Given the description of an element on the screen output the (x, y) to click on. 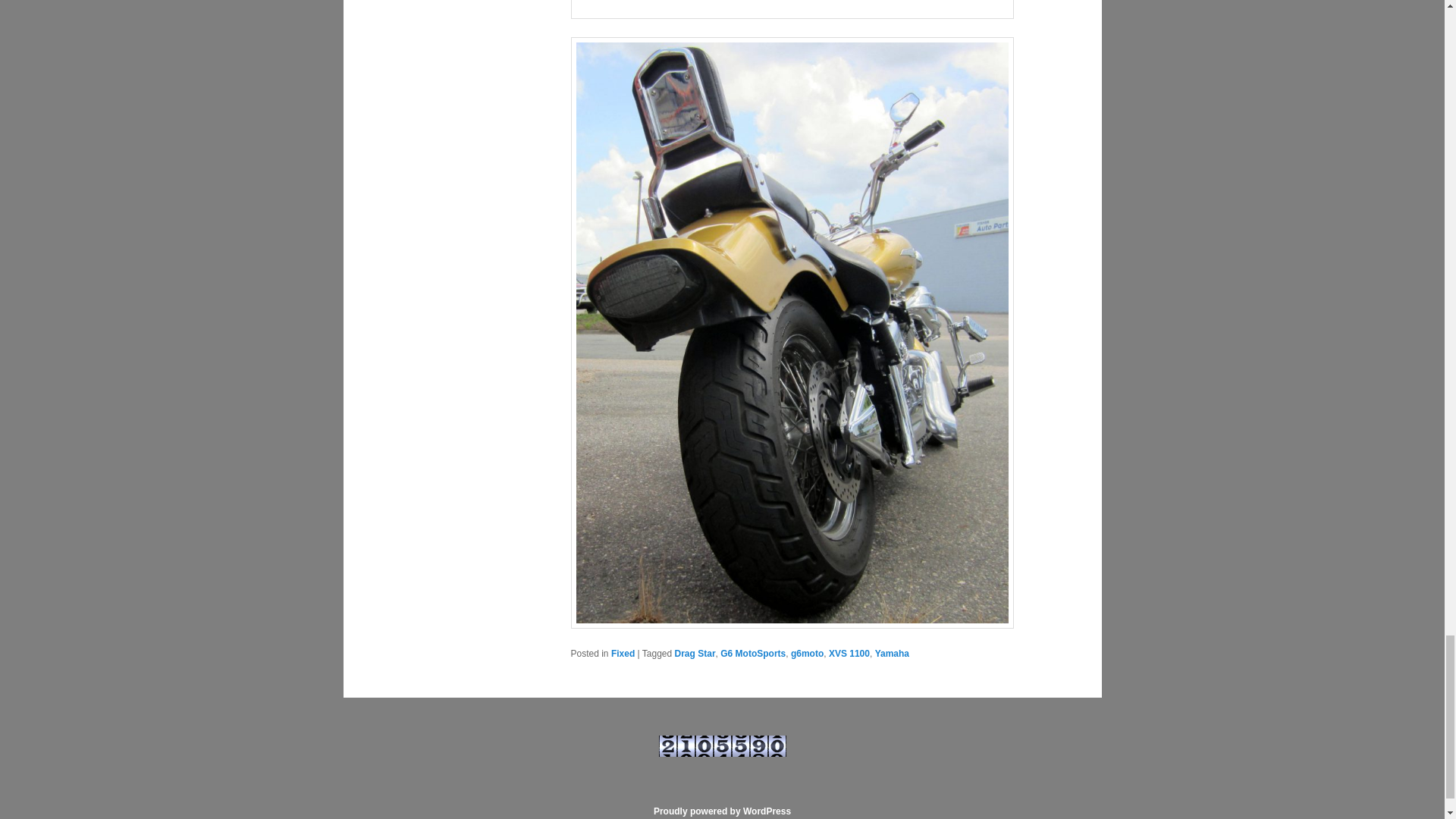
Fixed (622, 653)
Semantic Personal Publishing Platform (721, 810)
Drag Star (695, 653)
Yamaha (891, 653)
XVS 1100 (848, 653)
G6 MotoSports (753, 653)
g6moto (807, 653)
